Given the description of an element on the screen output the (x, y) to click on. 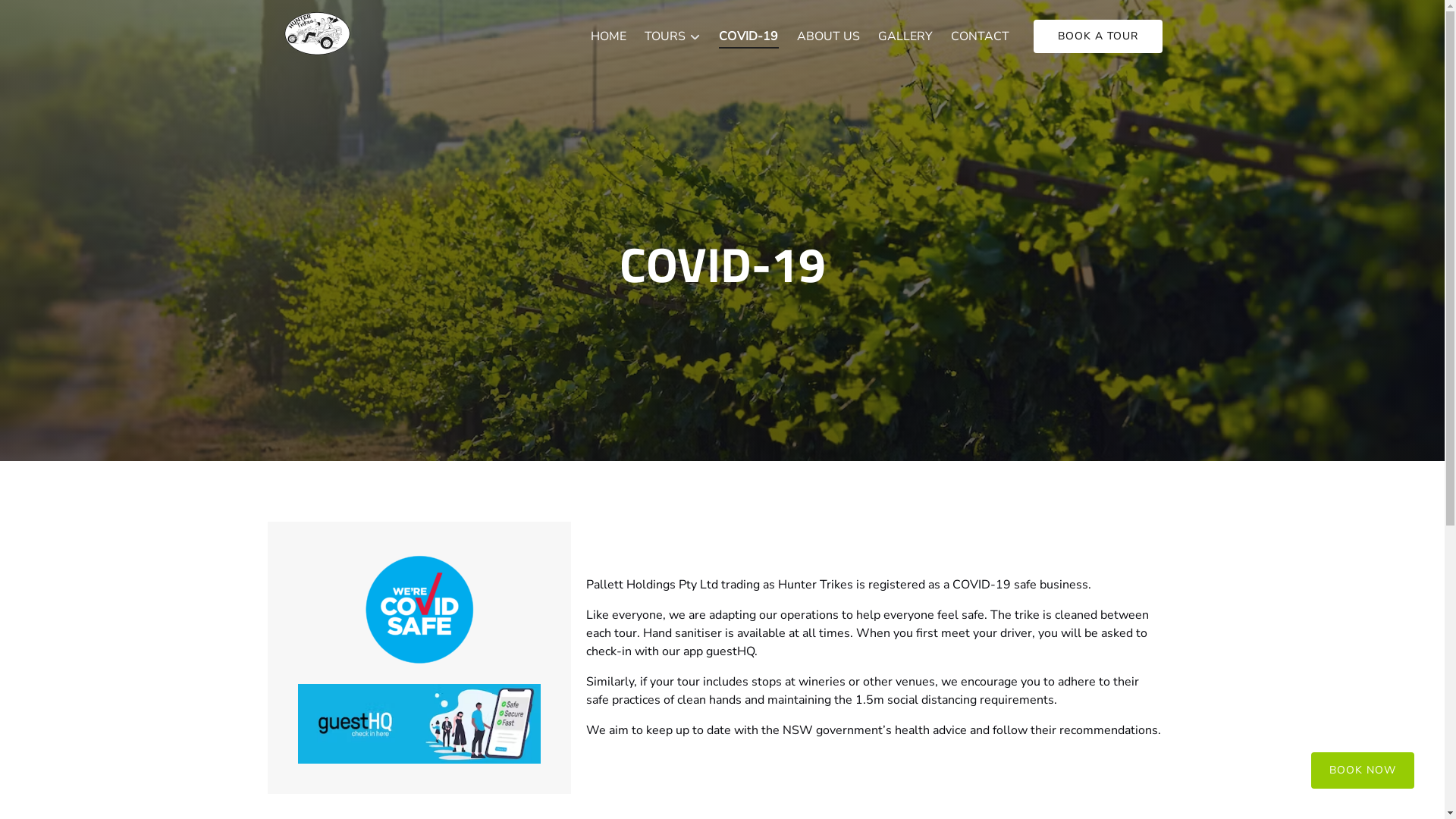
Skip to content Element type: text (48, 16)
CONTACT Element type: text (979, 36)
Skip to footer Element type: text (44, 16)
TOURS Element type: text (672, 36)
HOME Element type: text (608, 36)
BOOK A TOUR Element type: text (1096, 36)
Skip to primary navigation Element type: text (78, 16)
ABOUT US Element type: text (827, 36)
COVID-19 Element type: text (748, 36)
BOOK NOW Element type: text (1362, 761)
GALLERY Element type: text (905, 36)
guesthq image Element type: hover (418, 723)
